Given the description of an element on the screen output the (x, y) to click on. 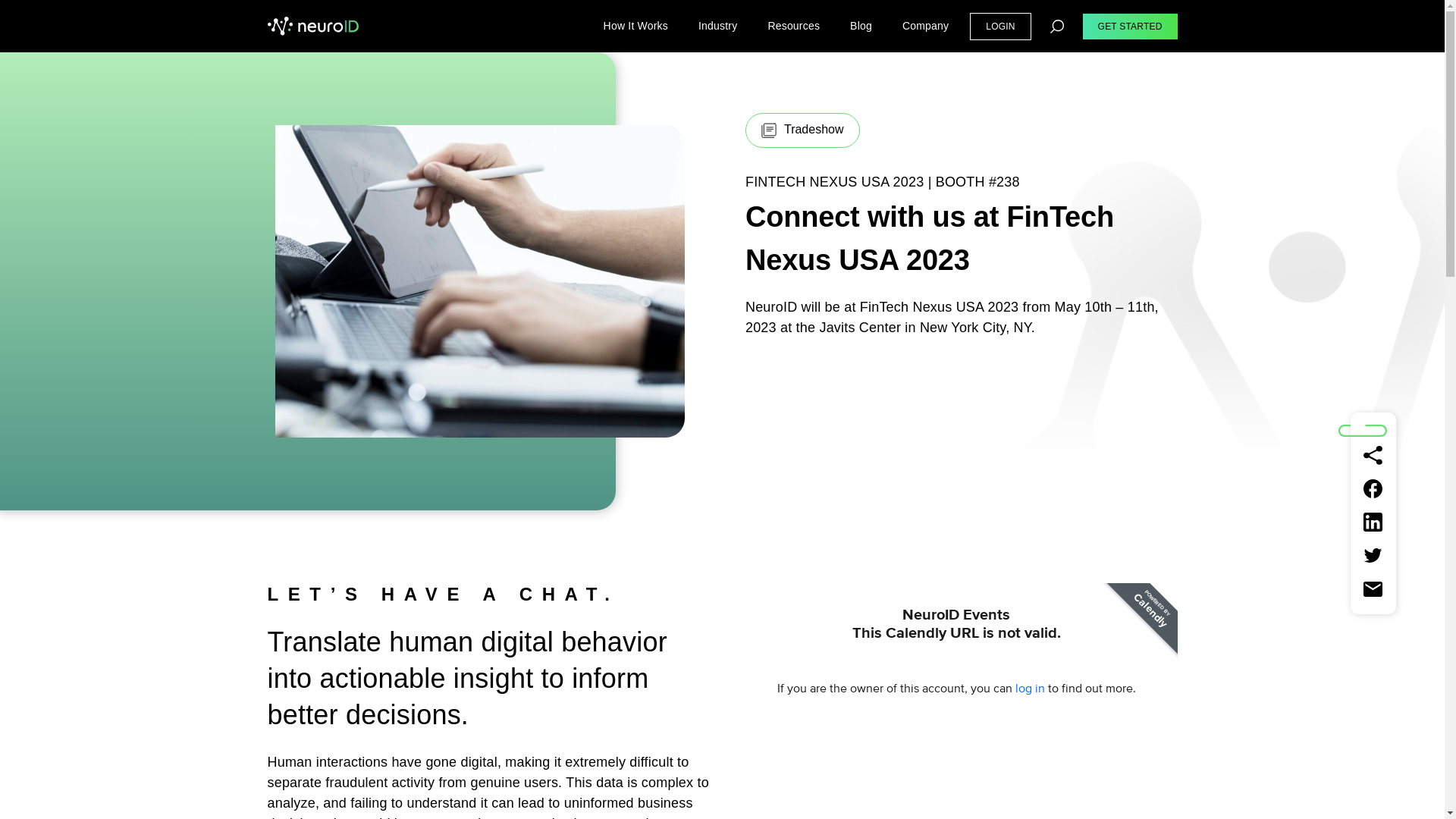
Industry (716, 26)
Company (925, 26)
Search (1056, 26)
Linkedin (1373, 522)
More (1373, 455)
Search (288, 19)
Resources (793, 26)
How It Works (635, 26)
GET STARTED (1130, 26)
Twitter (1373, 555)
Facebook (1373, 488)
LOGIN (999, 25)
Email (1373, 588)
